Given the description of an element on the screen output the (x, y) to click on. 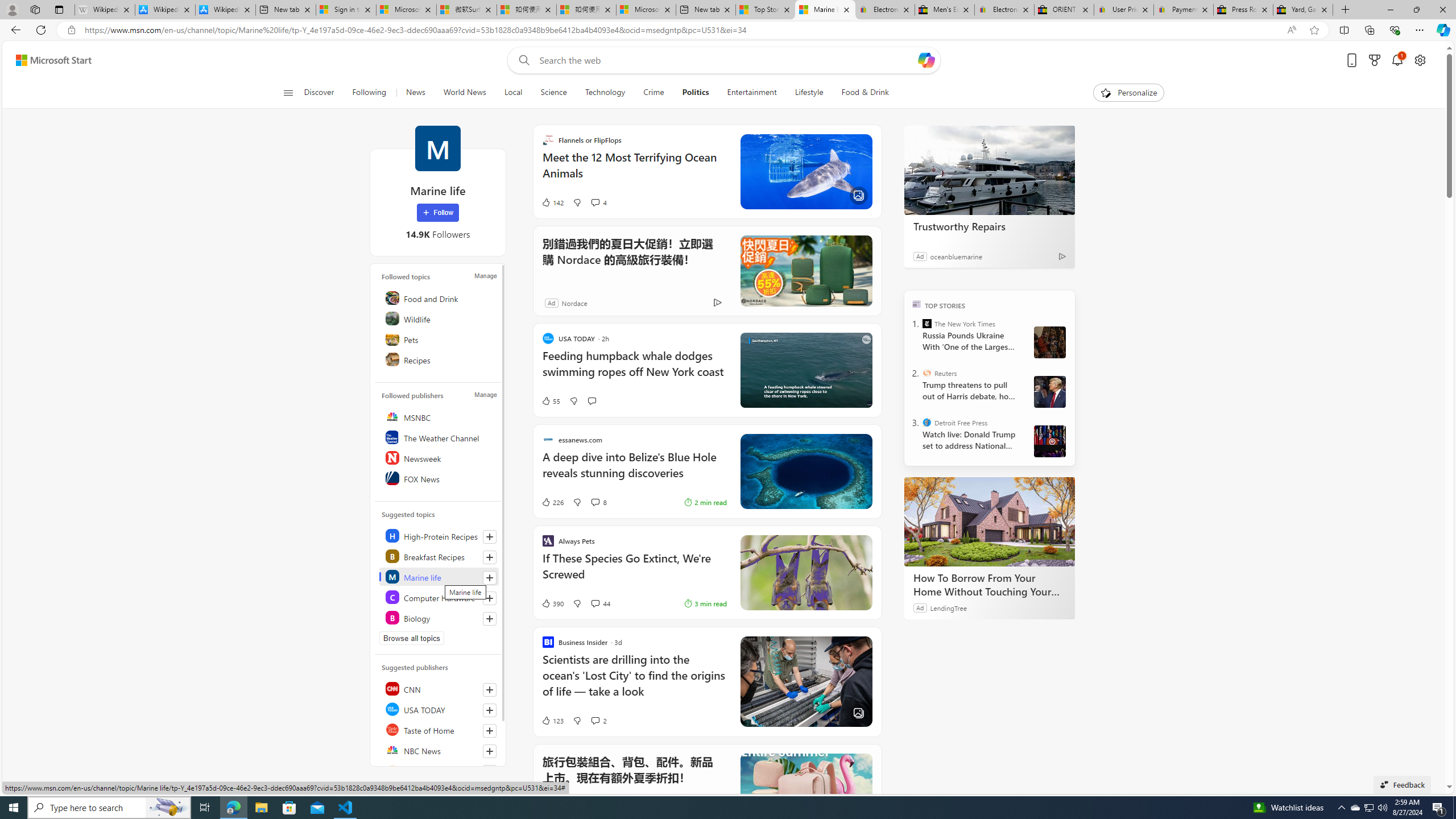
The Weather Channel (439, 437)
Class: highlight selected (439, 576)
Browse all topics (412, 638)
The Great Blue Hole has fascinated scientists for years. (805, 471)
Class: highlight (439, 617)
CNN (439, 688)
